Given the description of an element on the screen output the (x, y) to click on. 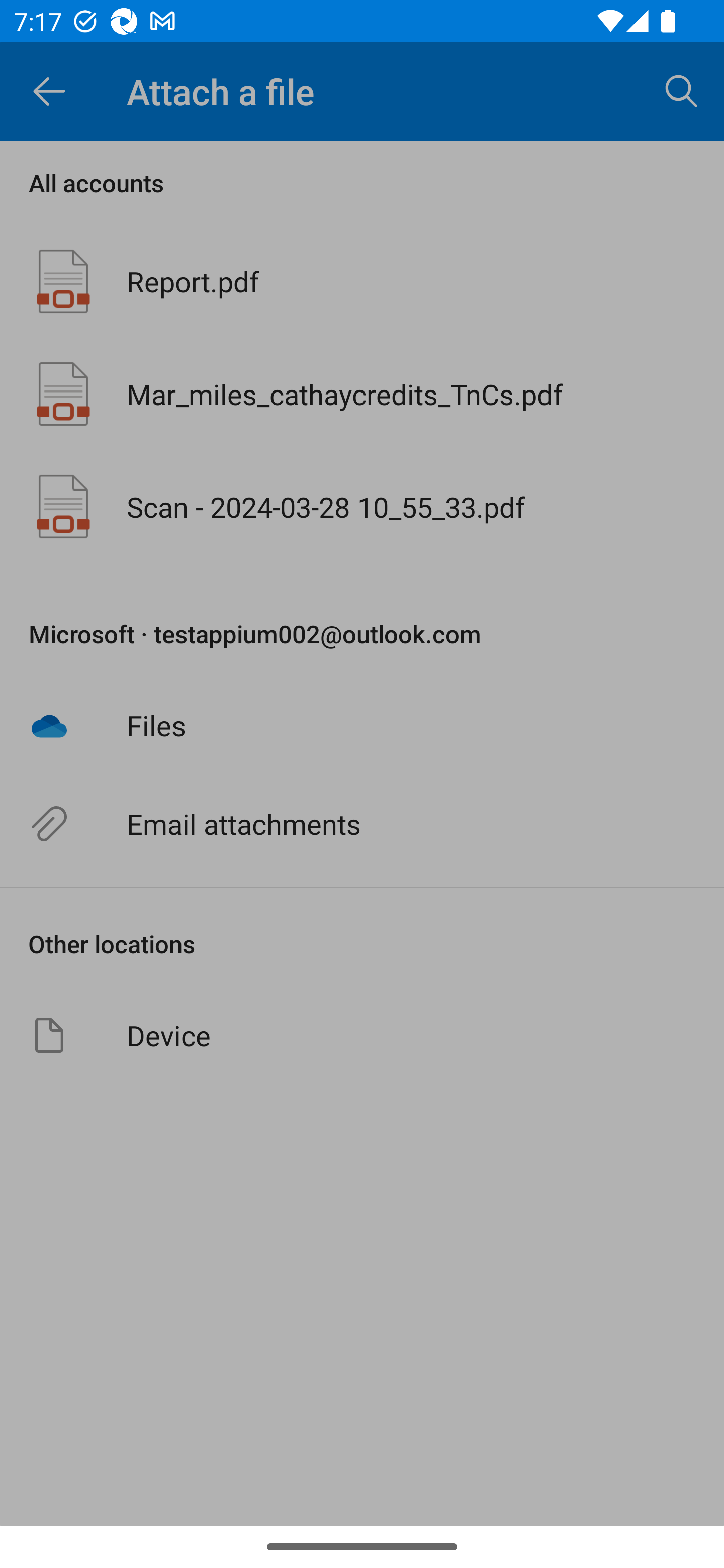
Navigate up (49, 91)
Search button (681, 90)
Report.pdf (362, 281)
Mar_miles_cathaycredits_TnCs.pdf (362, 393)
Scan - 2024-03-28 10_55_33.pdf (362, 506)
Files (362, 724)
Email attachments (362, 823)
Device (362, 1035)
